Given the description of an element on the screen output the (x, y) to click on. 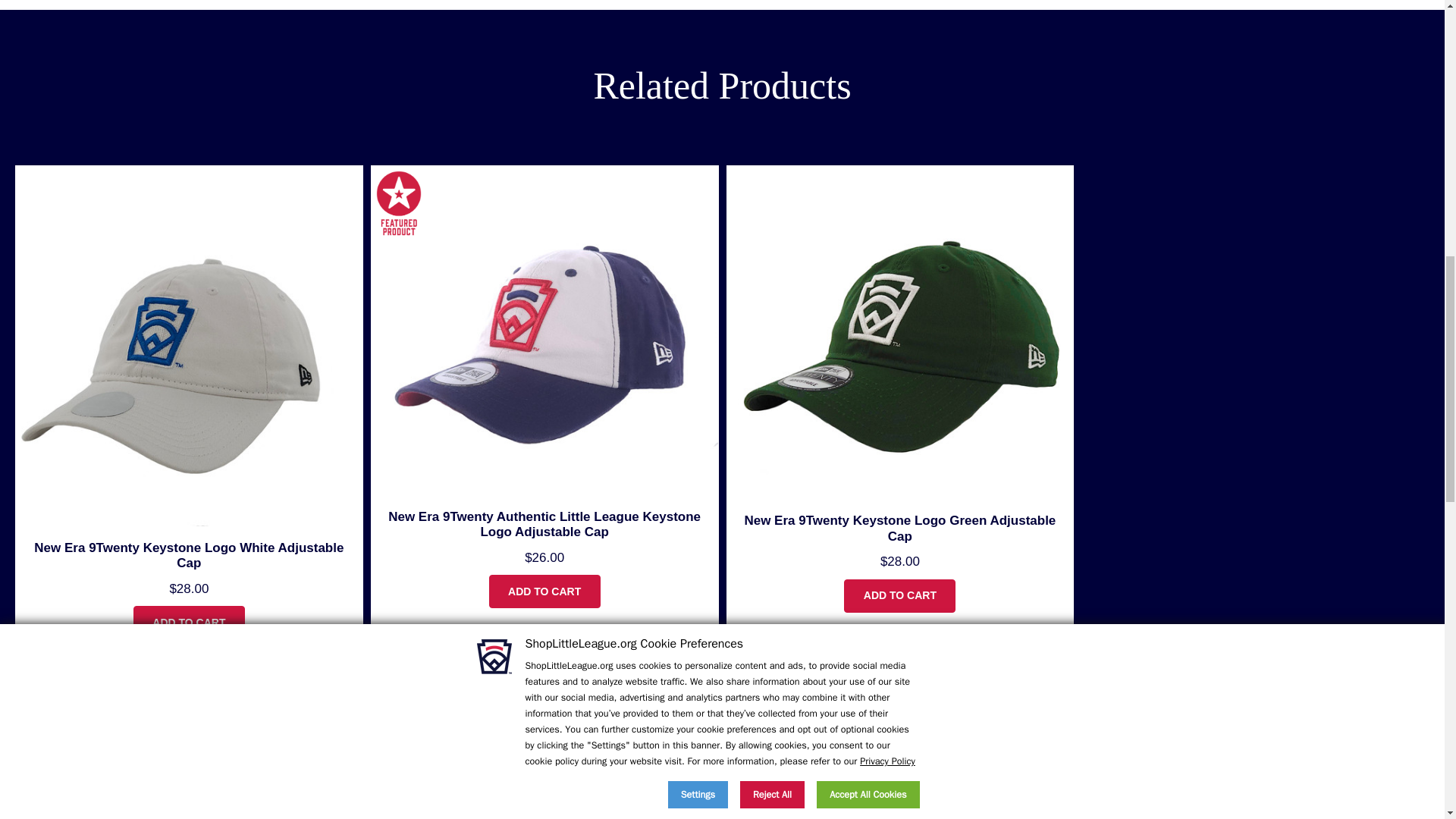
New Era 9Twenty Keystone Logo Green Adjustable Cap (899, 332)
New Era 9Twenty Keystone Logo White Adjustable Cap (189, 346)
